Given the description of an element on the screen output the (x, y) to click on. 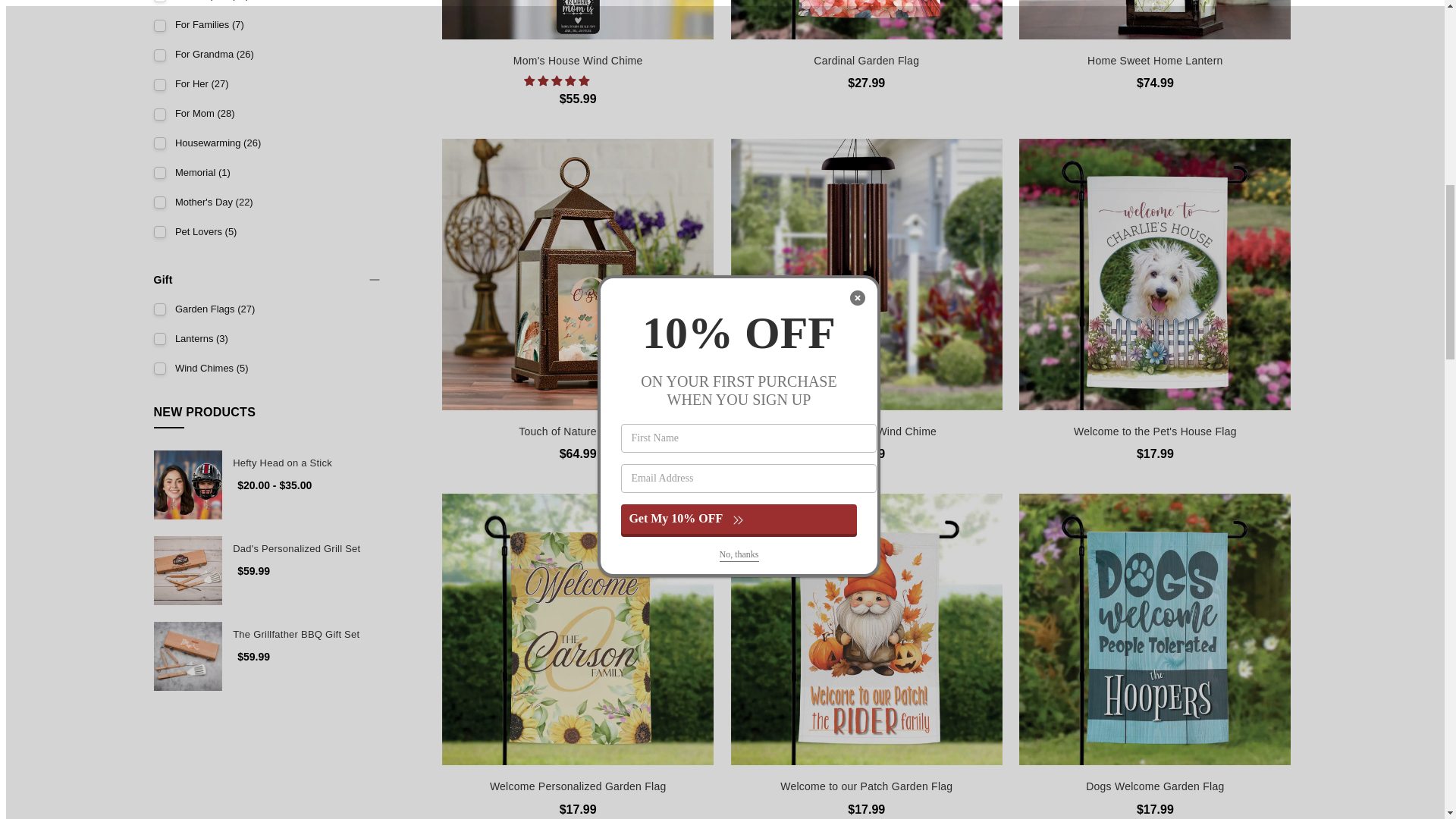
Personalized garden flag for pets (1154, 274)
Touch of Nature Personalized Lantern (577, 274)
Dad's BBQ Grill set is personalized with a short message. (187, 570)
Dogs Welcome Personalized Garden Flag (1154, 628)
Personalized Wind Chime with Family picture (866, 274)
Big heads on a stick are great for sporting events! (187, 484)
Home Sweet Home Personalized lantern has family last name (1154, 19)
